Given the description of an element on the screen output the (x, y) to click on. 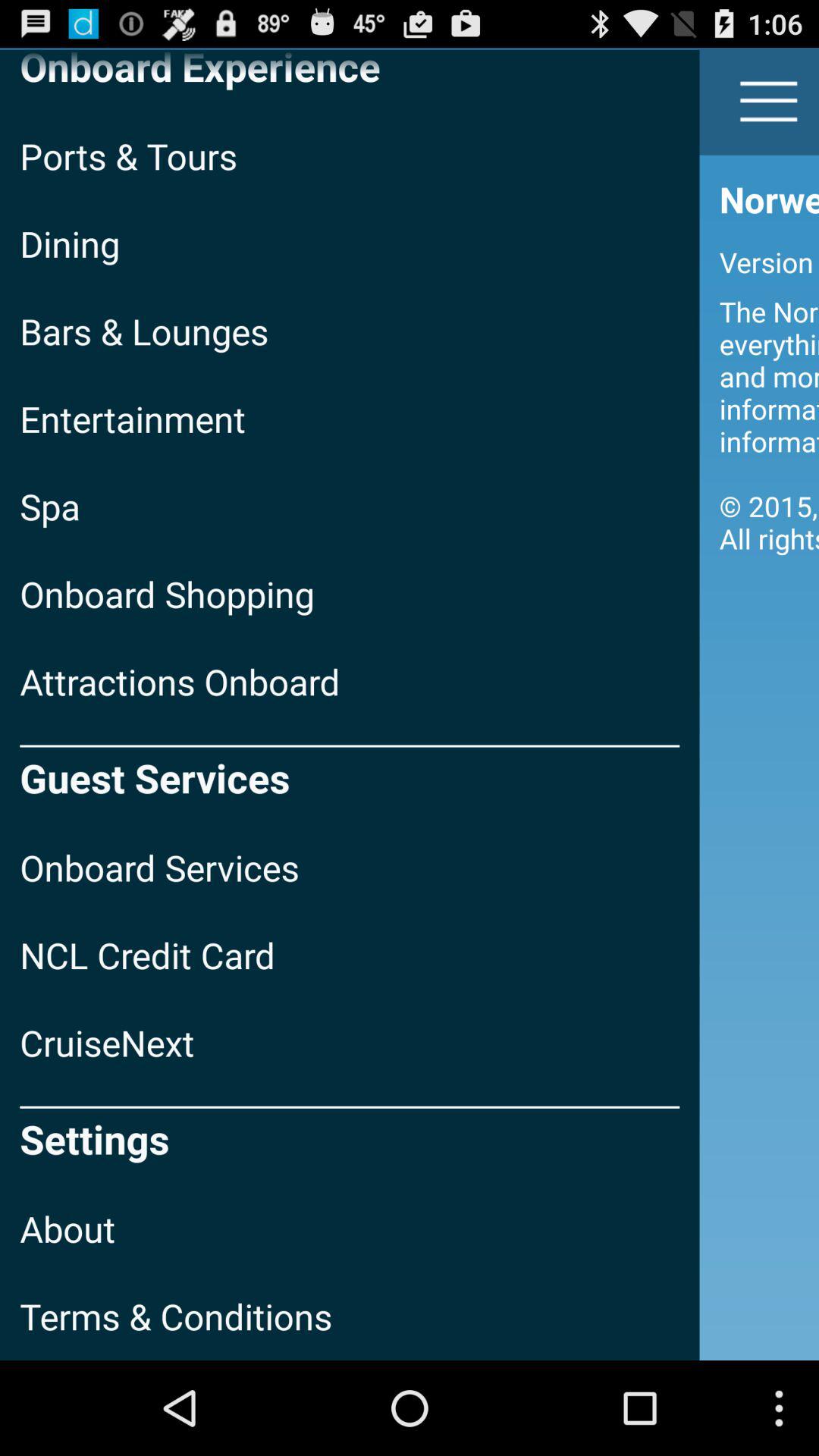
press the icon above norwegian iconcierge (769, 101)
